Given the description of an element on the screen output the (x, y) to click on. 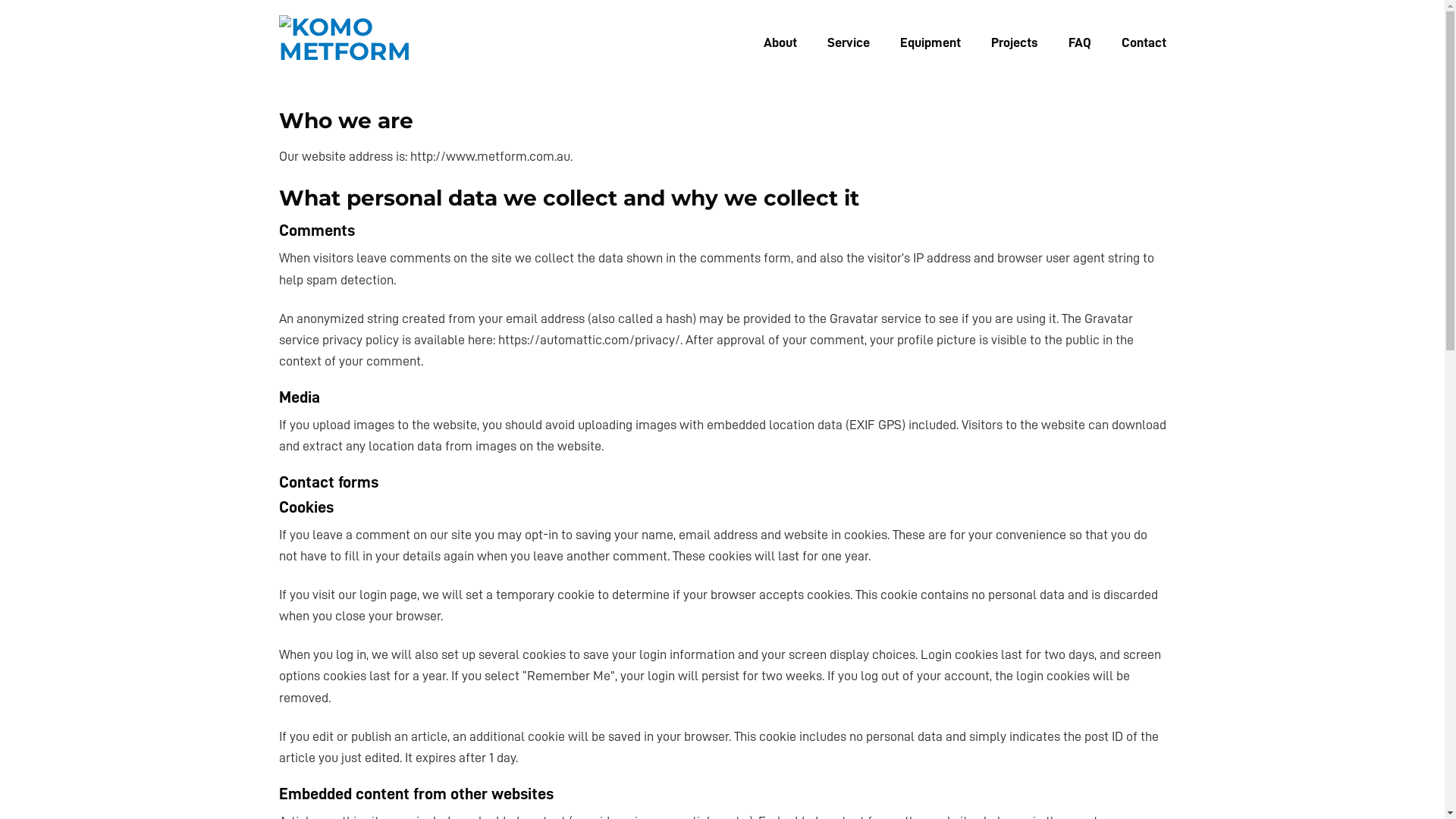
Komo Metform Element type: hover (427, 42)
About Element type: text (779, 42)
Contact Element type: text (1142, 42)
Service Element type: text (847, 42)
FAQ Element type: text (1078, 42)
Equipment Element type: text (929, 42)
Projects Element type: text (1013, 42)
